Given the description of an element on the screen output the (x, y) to click on. 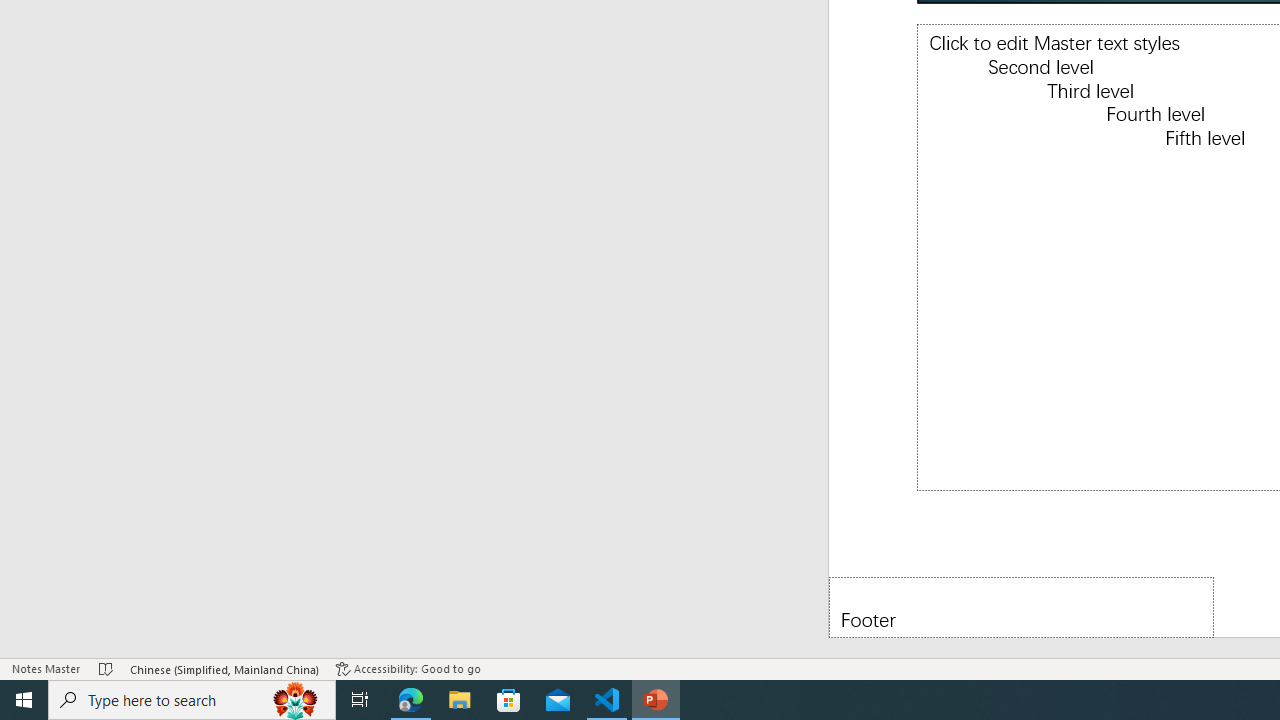
Footer (1021, 606)
